Given the description of an element on the screen output the (x, y) to click on. 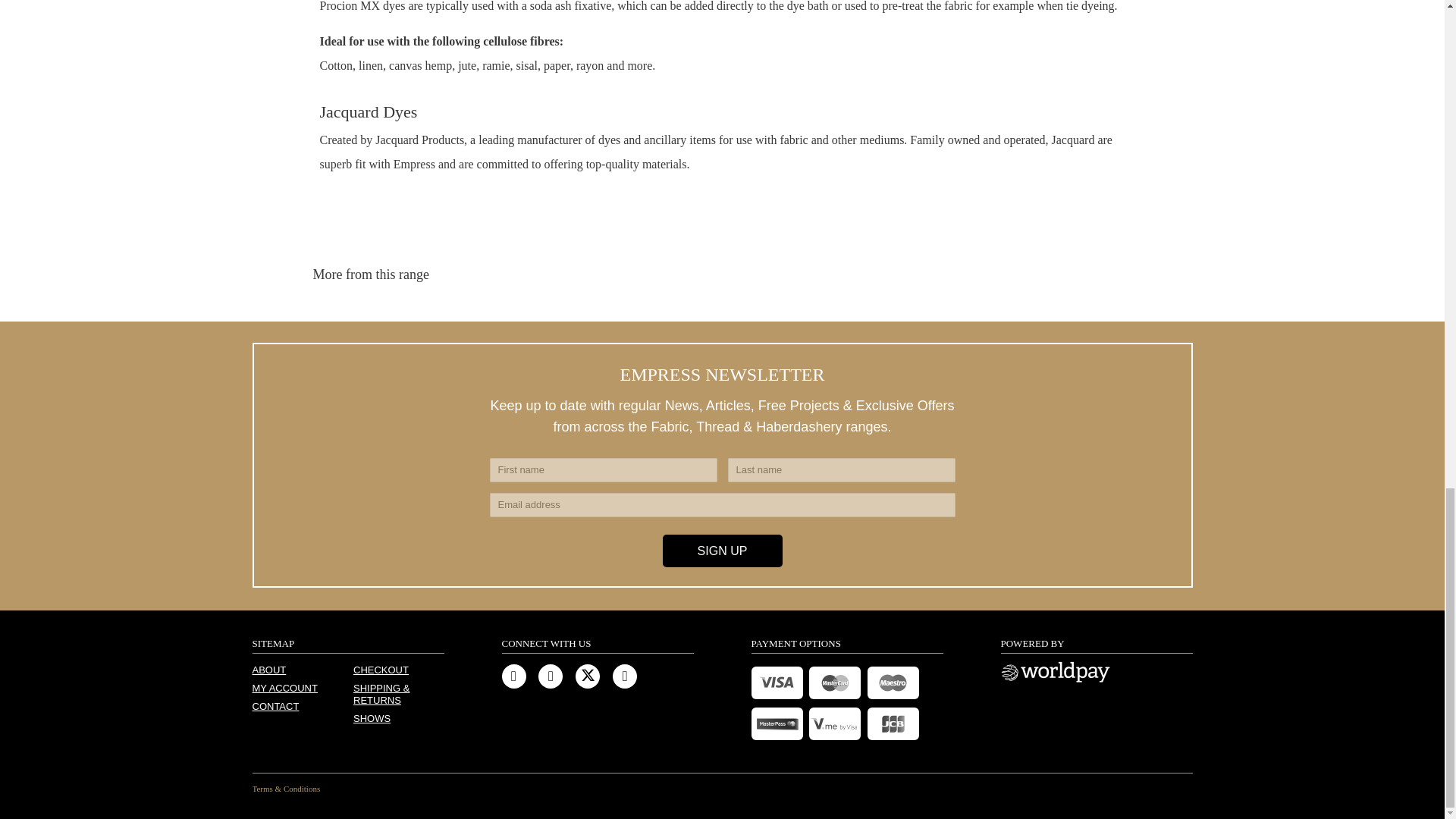
Sign Up (722, 550)
